Given the description of an element on the screen output the (x, y) to click on. 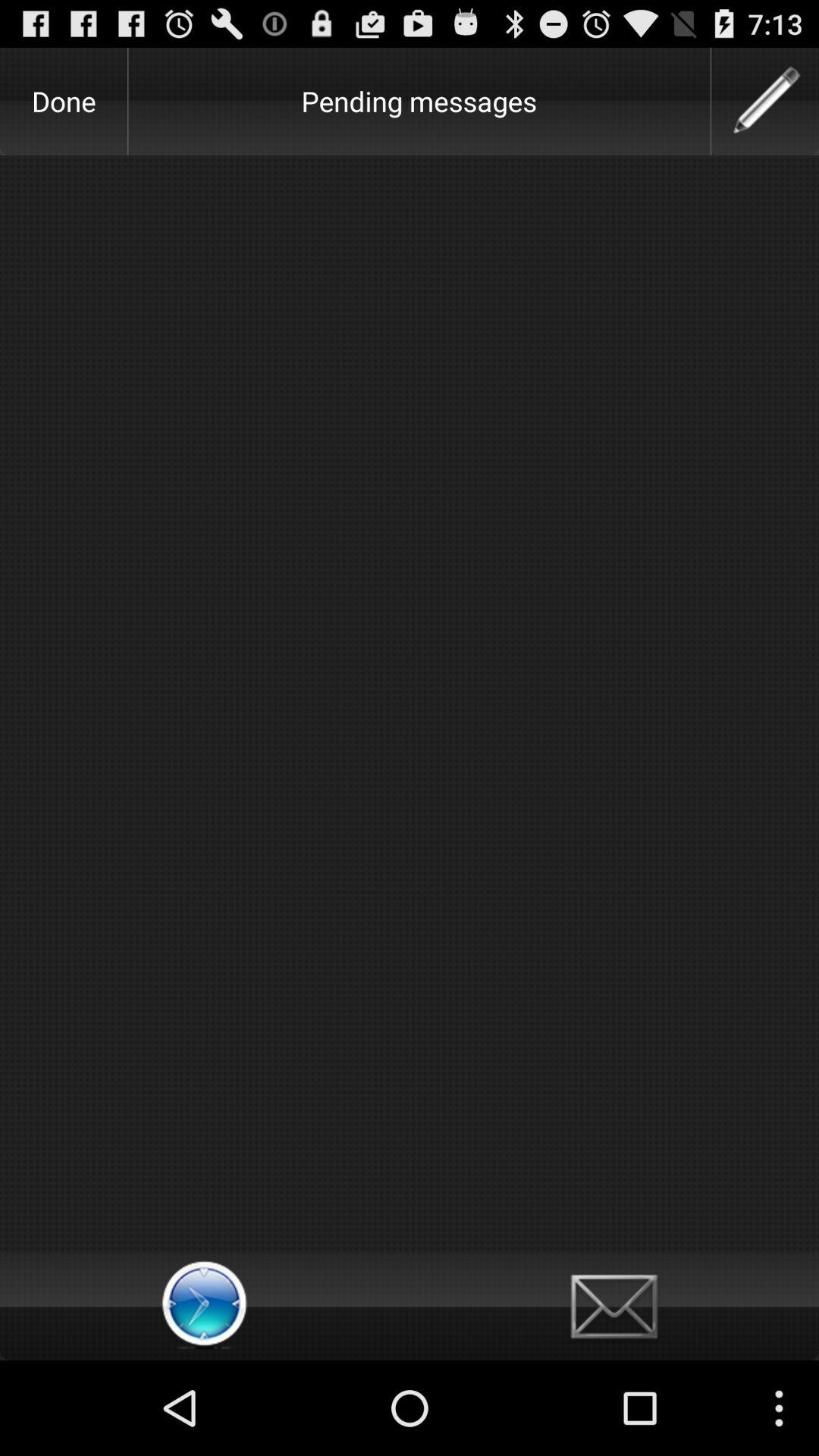
open done icon (63, 101)
